Given the description of an element on the screen output the (x, y) to click on. 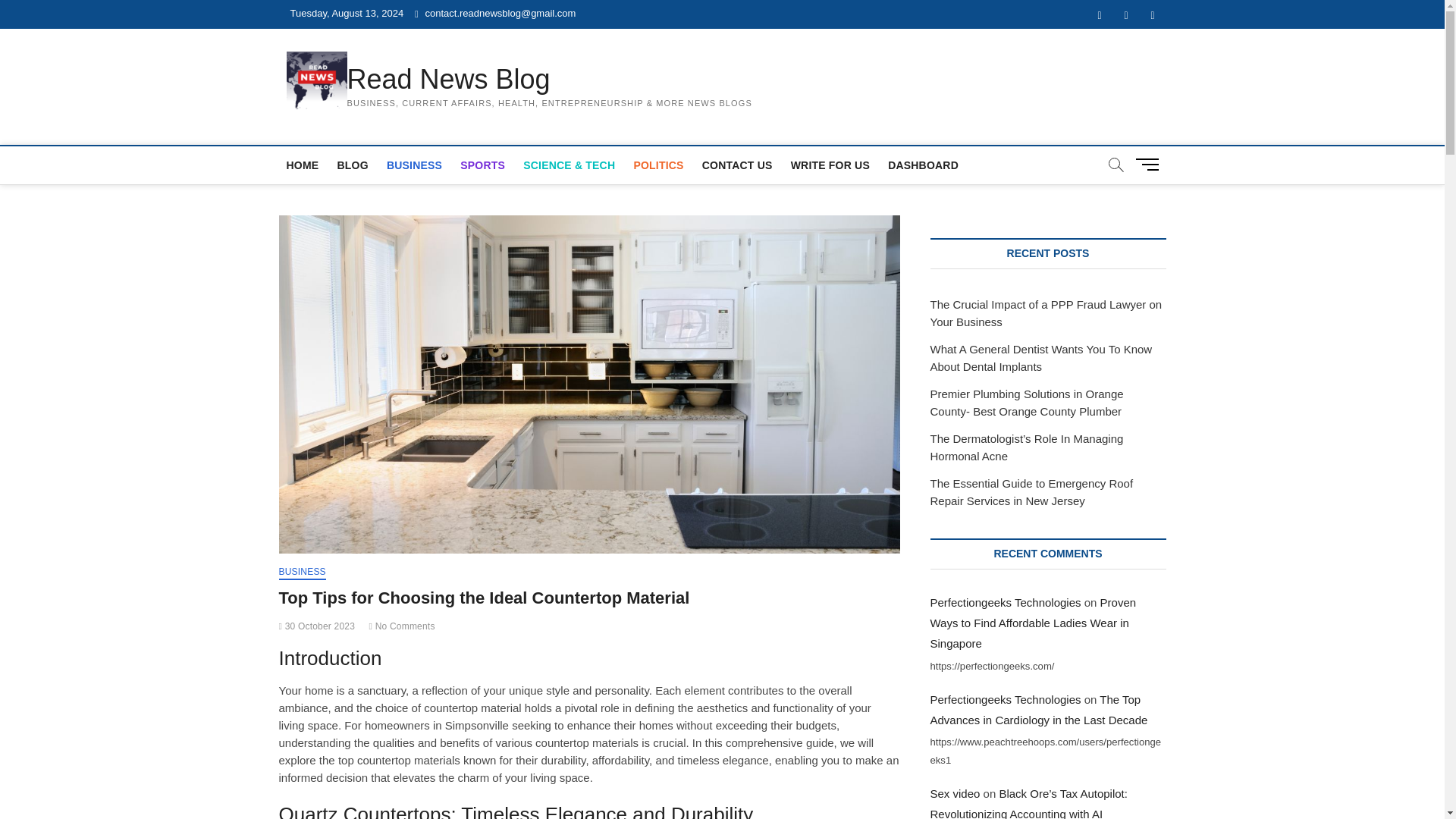
POLITICS (658, 165)
Read News Blog (549, 79)
HOME (302, 165)
CONTACT US (737, 165)
Twitter (1126, 15)
BLOG (352, 165)
BUSINESS (413, 165)
WRITE FOR US (830, 165)
Menu Button (1150, 164)
Instagram (1152, 15)
